Given the description of an element on the screen output the (x, y) to click on. 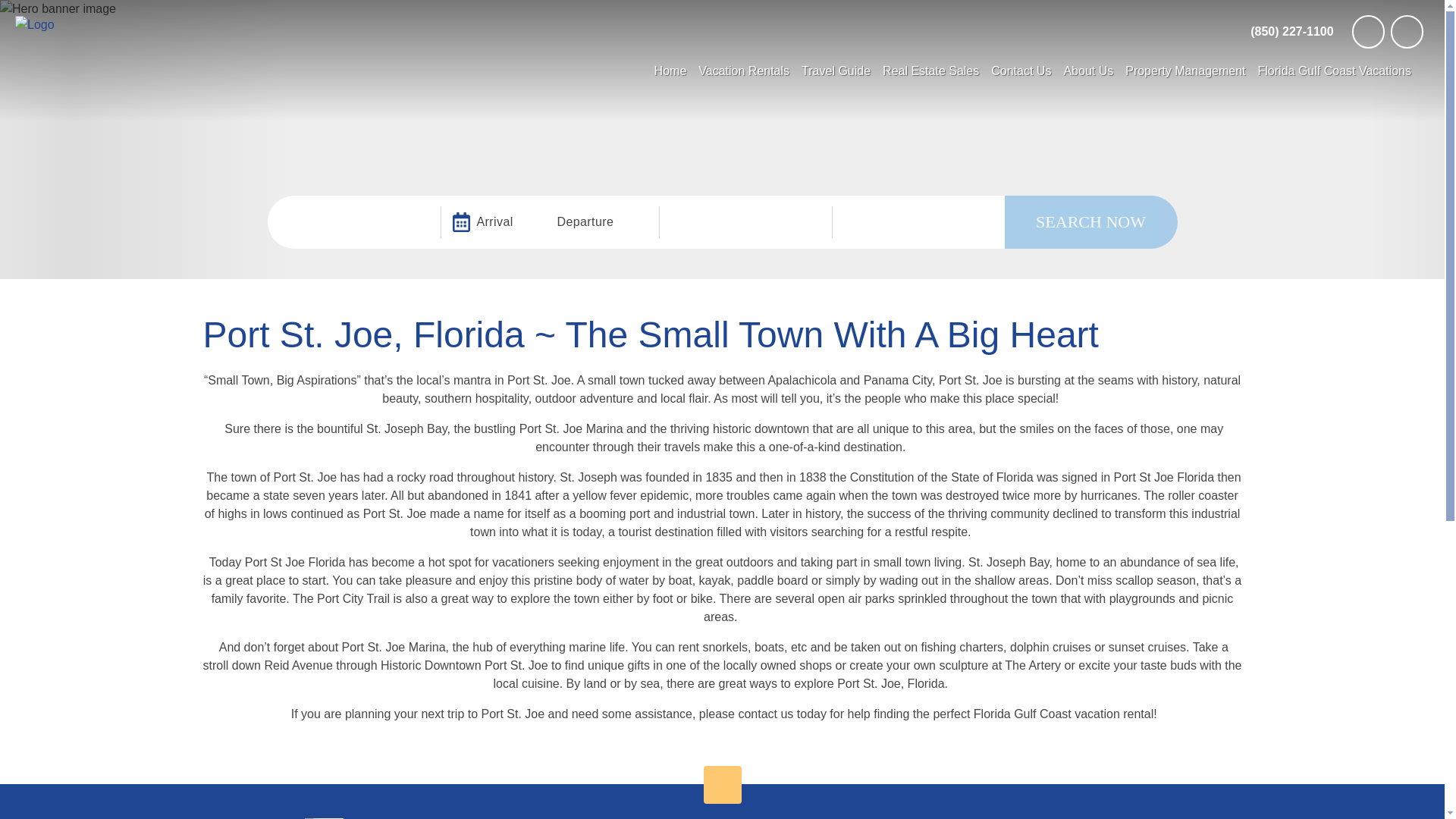
Home (670, 71)
Clear QS Datepicker (644, 222)
Contact Us (1021, 71)
Vacation Rentals (743, 71)
Real Estate Sales (930, 71)
Travel Guide (835, 71)
Property Management (1184, 71)
About Us (1088, 71)
Favorites (1406, 31)
Florida Gulf Coast Vacations (1334, 71)
